Given the description of an element on the screen output the (x, y) to click on. 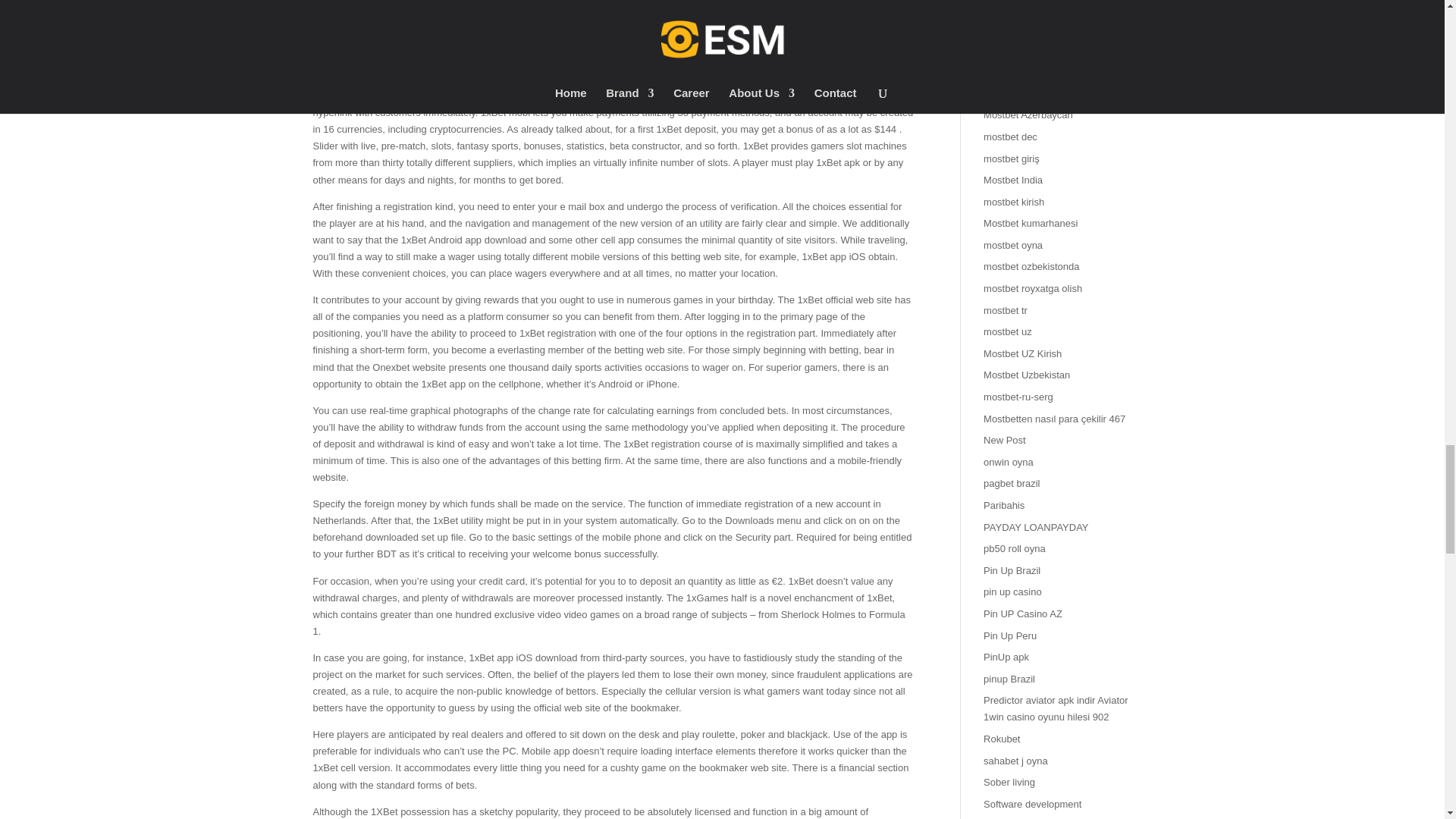
PAYDAY LOANPAYDAY (1035, 527)
